Given the description of an element on the screen output the (x, y) to click on. 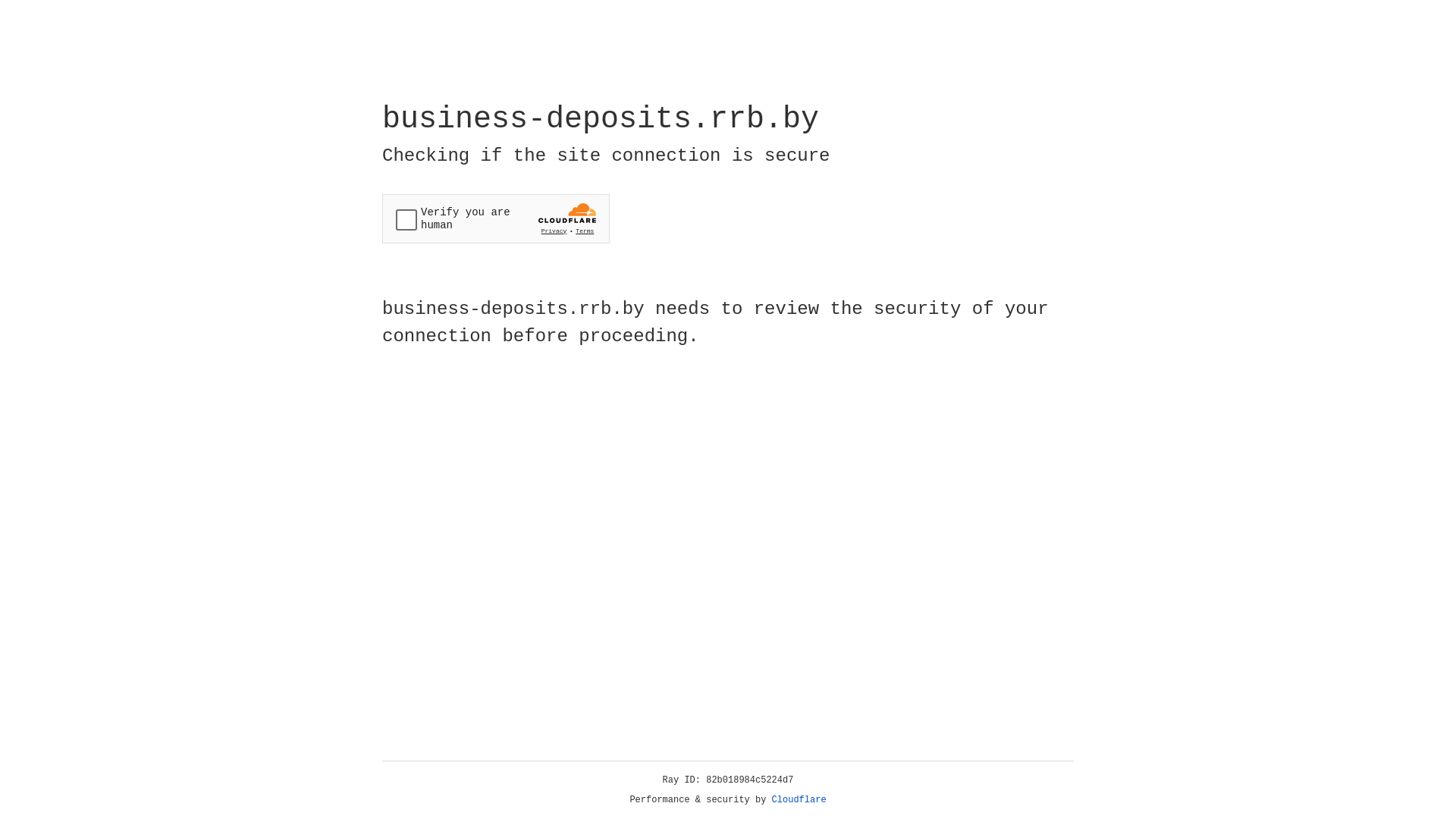
Widget containing a Cloudflare security challenge Element type: hover (495, 218)
Cloudflare Element type: text (798, 799)
